Given the description of an element on the screen output the (x, y) to click on. 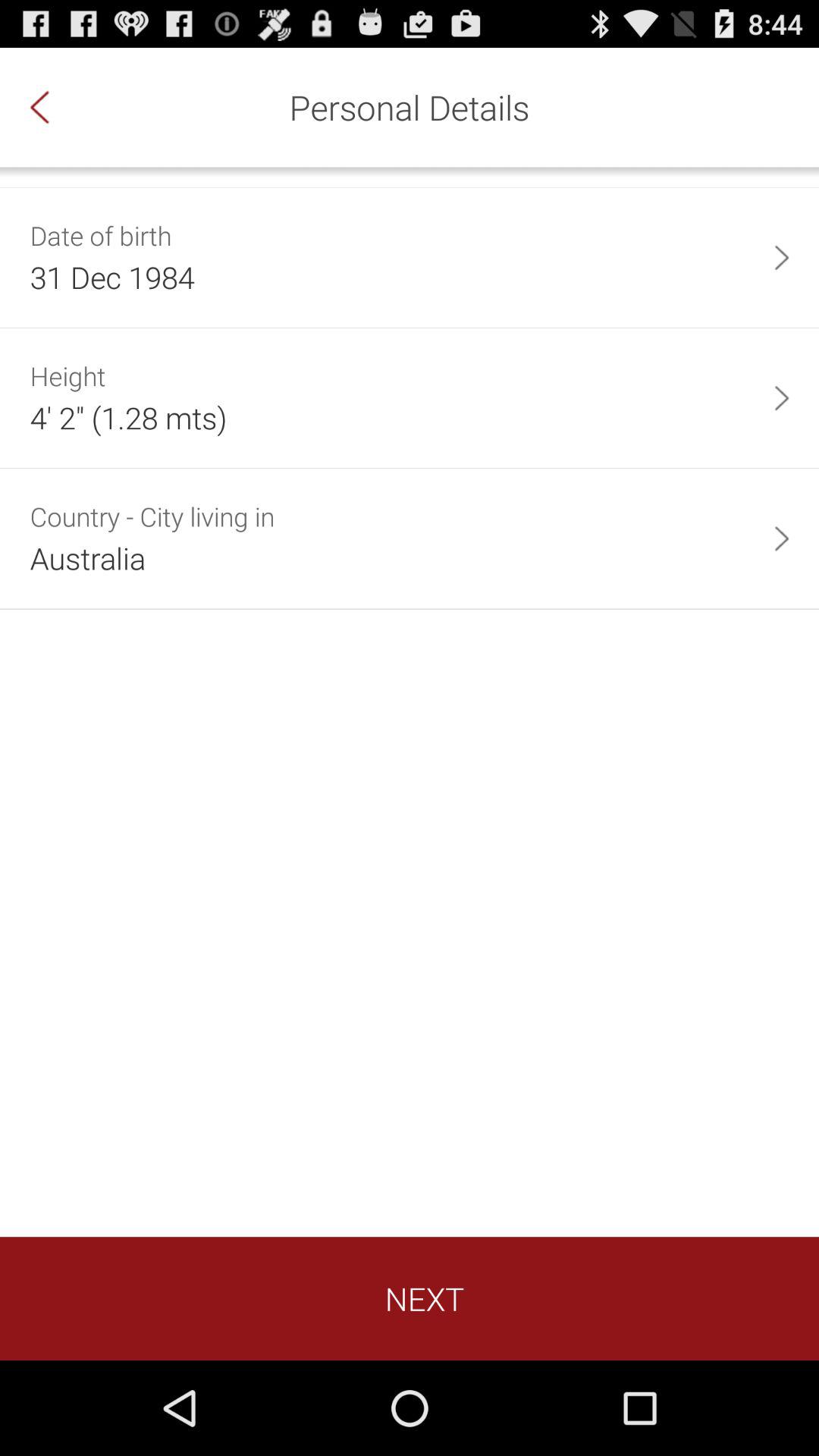
press item on the right (781, 538)
